Given the description of an element on the screen output the (x, y) to click on. 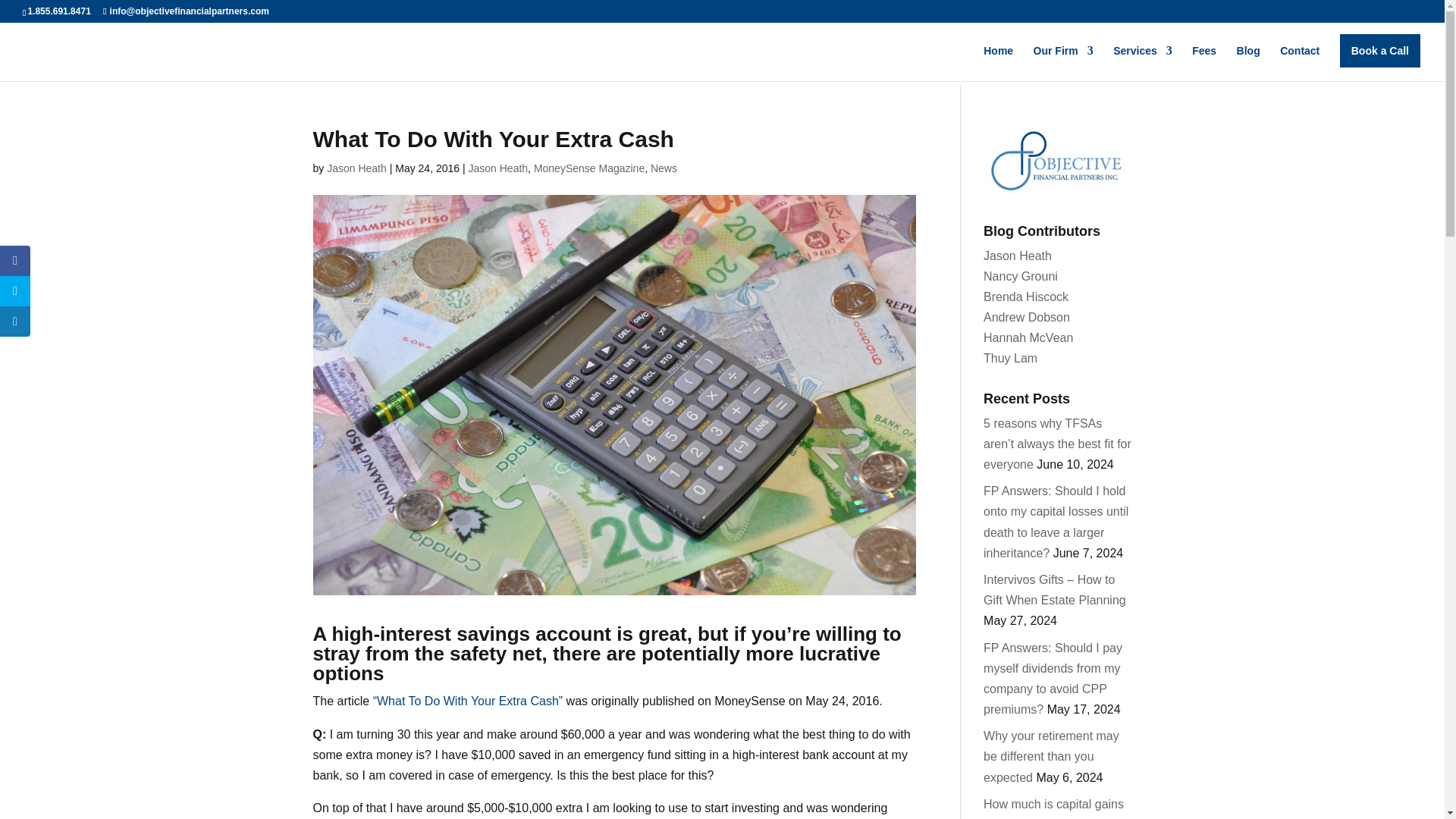
Brenda Hiscock (1026, 296)
Home (998, 63)
Hannah McVean (1028, 337)
Posts by Jason Heath (356, 168)
Services (1142, 63)
Andrew Dobson (1027, 317)
Fees (1203, 63)
Blog (1248, 63)
Jason Heath (497, 168)
Our Firm (1063, 63)
Nancy Grouni (1021, 276)
Thuy Lam (1010, 358)
News (663, 168)
Jason Heath (356, 168)
Jason Heath (1017, 255)
